Given the description of an element on the screen output the (x, y) to click on. 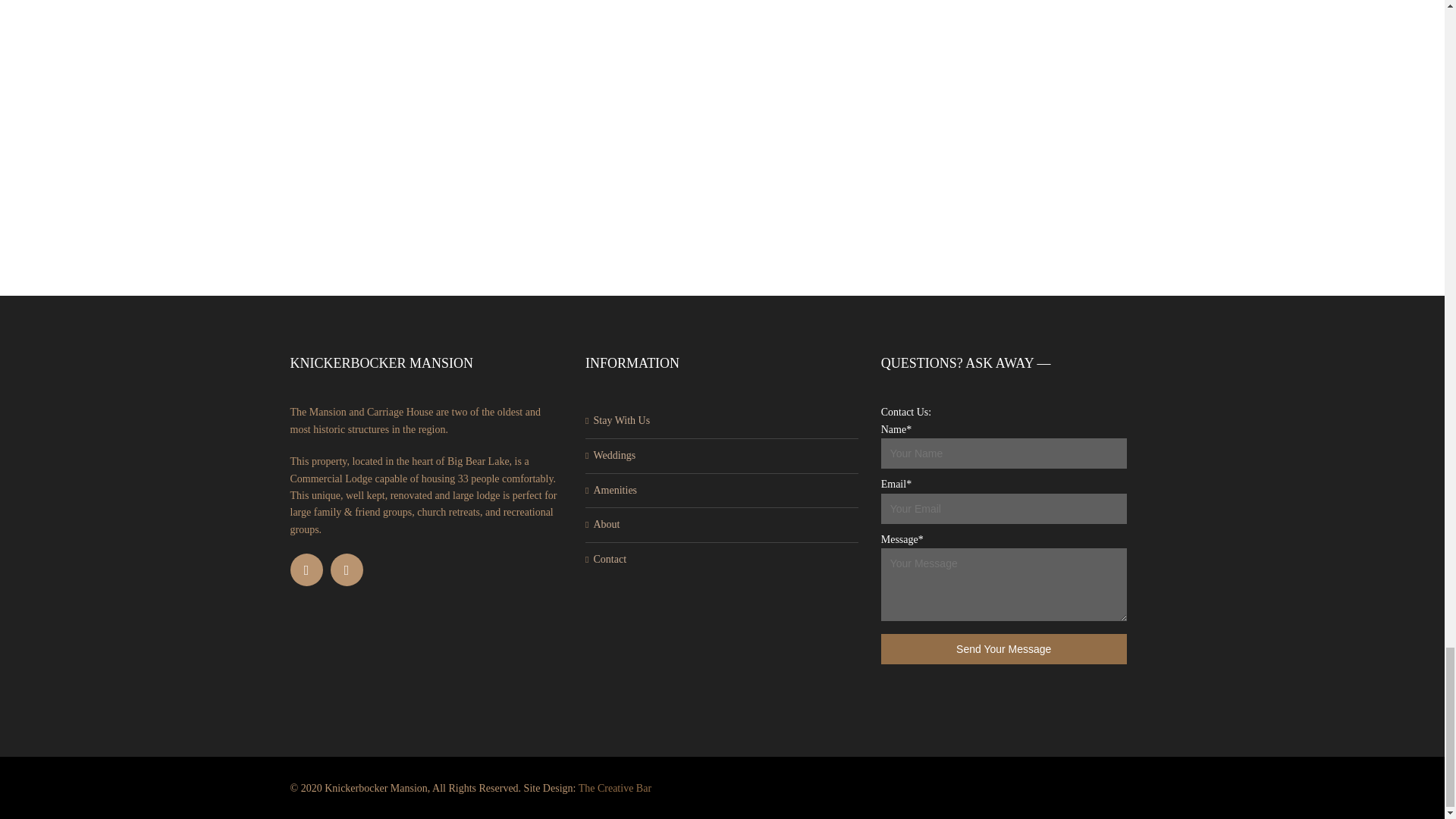
Weddings (613, 455)
About (606, 523)
Contact (609, 559)
knickerbocker-livingroom-01-1280px (441, 188)
Stay With Us (620, 419)
Send Your Message (1003, 648)
knickerbocker-basement-02-1280px (160, 2)
knickerbocker-courtyard-03-1280px (160, 188)
Send Your Message (1003, 648)
knickerbocker-courtyard-05-1280px (722, 188)
knickerbocker-gameroom-1280px (1003, 188)
knickerbocker-basement-01-1280px (1285, 2)
Boy Sledding at Knickerbocker Mansion (1285, 188)
knickerbocker-courtyard-06-1280px (1003, 2)
The Creative Bar (614, 787)
